Given the description of an element on the screen output the (x, y) to click on. 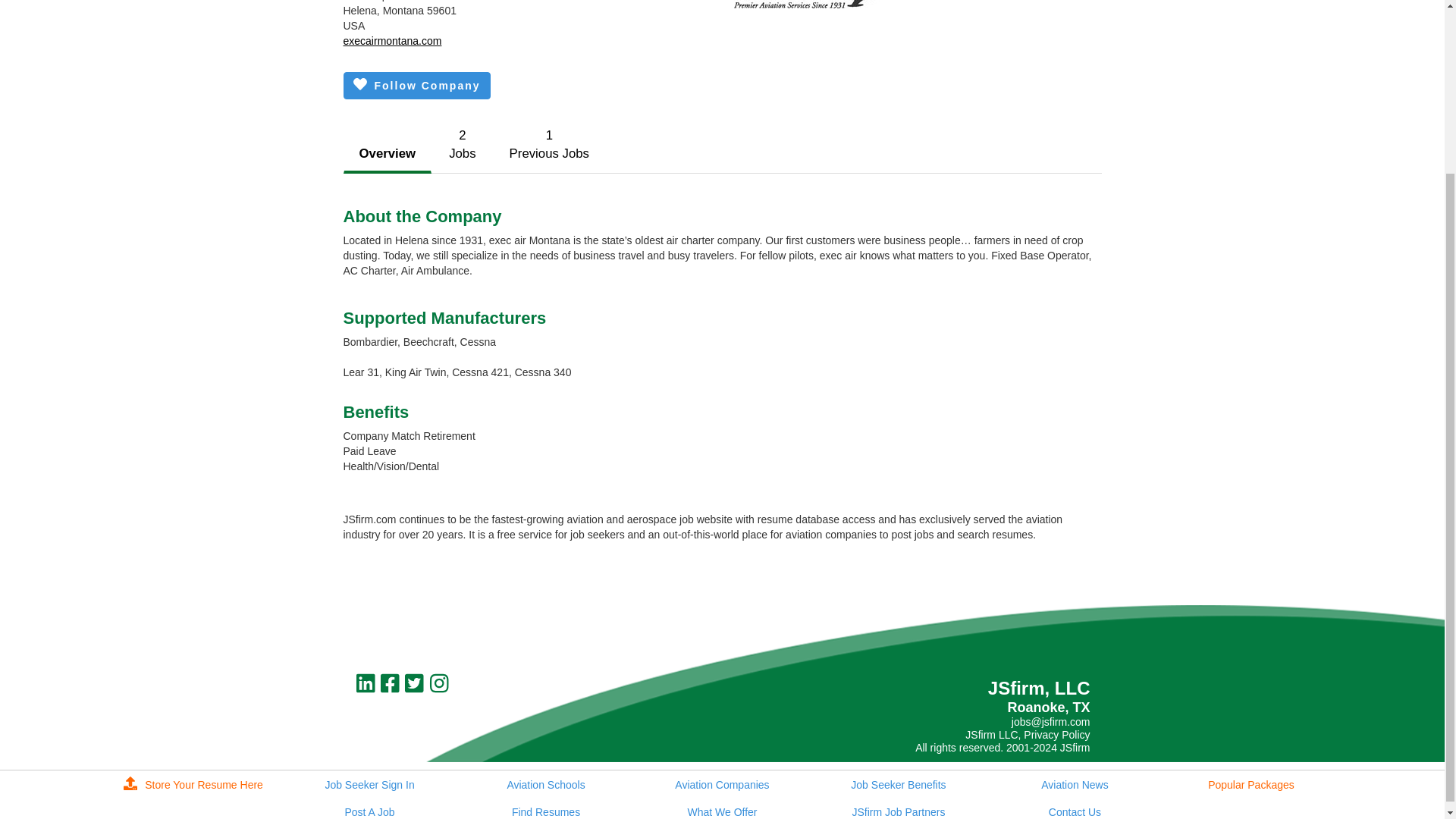
Leading Edge Montana Dba Exec Air Montana (462, 144)
Overview (809, 4)
execairmontana.com (549, 144)
Follow Company (386, 154)
